Given the description of an element on the screen output the (x, y) to click on. 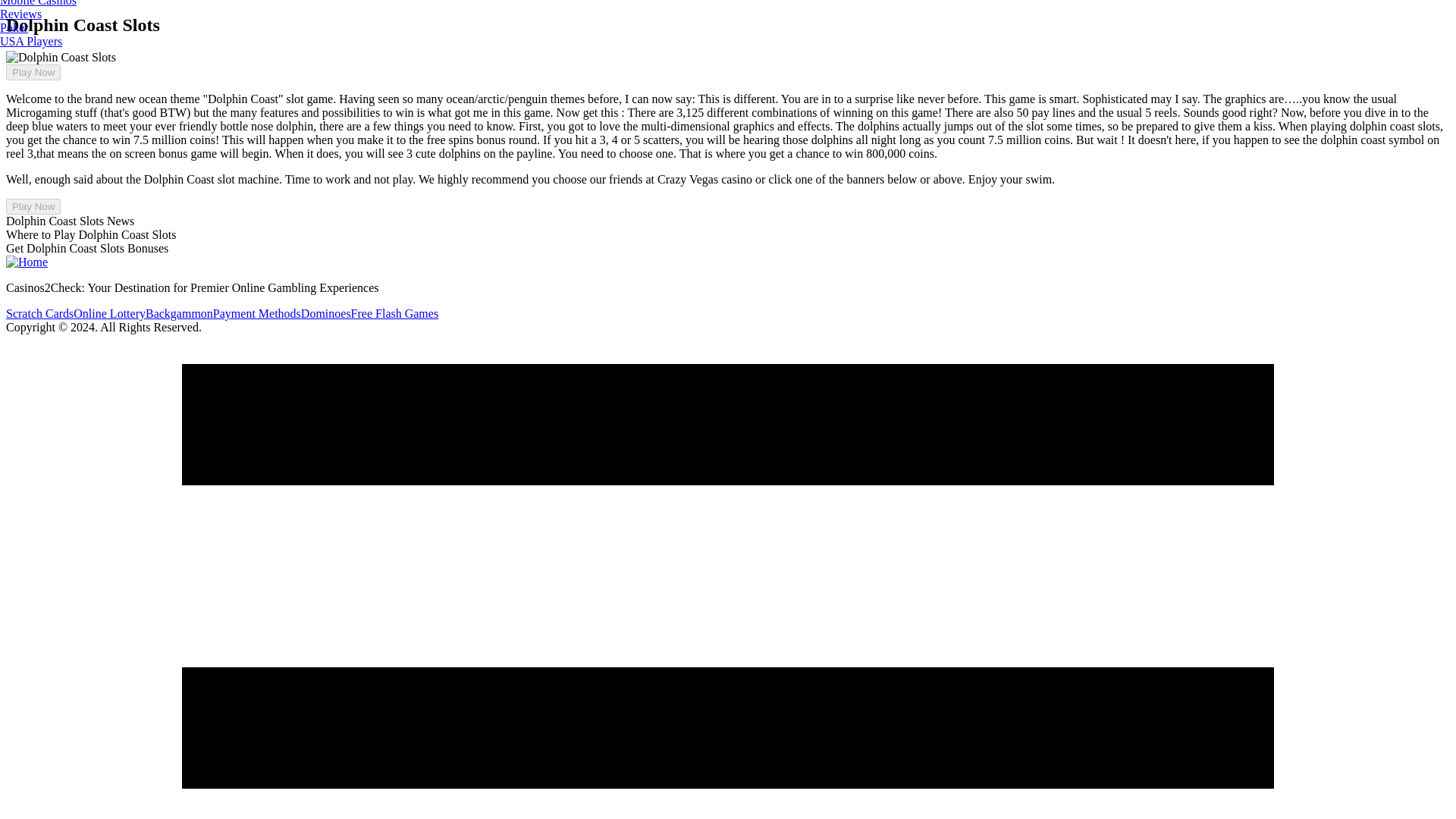
Play Now (33, 72)
Play Now (33, 206)
